Given the description of an element on the screen output the (x, y) to click on. 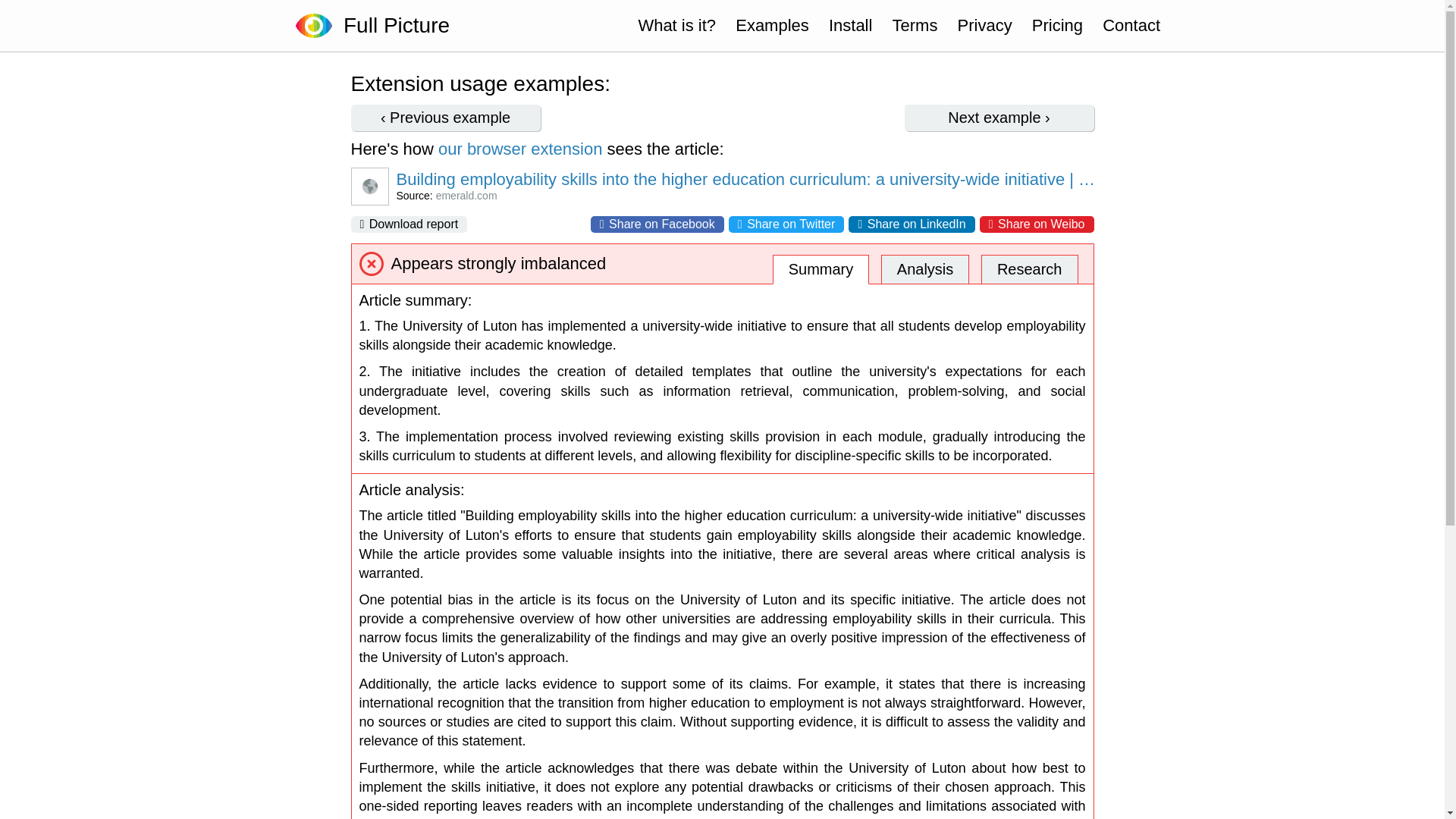
Download report (408, 224)
Analysis (924, 269)
our browser extension (520, 148)
Install (850, 25)
What is it? (676, 25)
Contact (1131, 25)
Share on Facebook (657, 224)
Pricing (1057, 25)
Examples (772, 25)
Research (1029, 269)
Terms (914, 25)
Share on LinkedIn (911, 224)
Full Picture (390, 25)
Privacy (984, 25)
Share on Weibo (1036, 224)
